Given the description of an element on the screen output the (x, y) to click on. 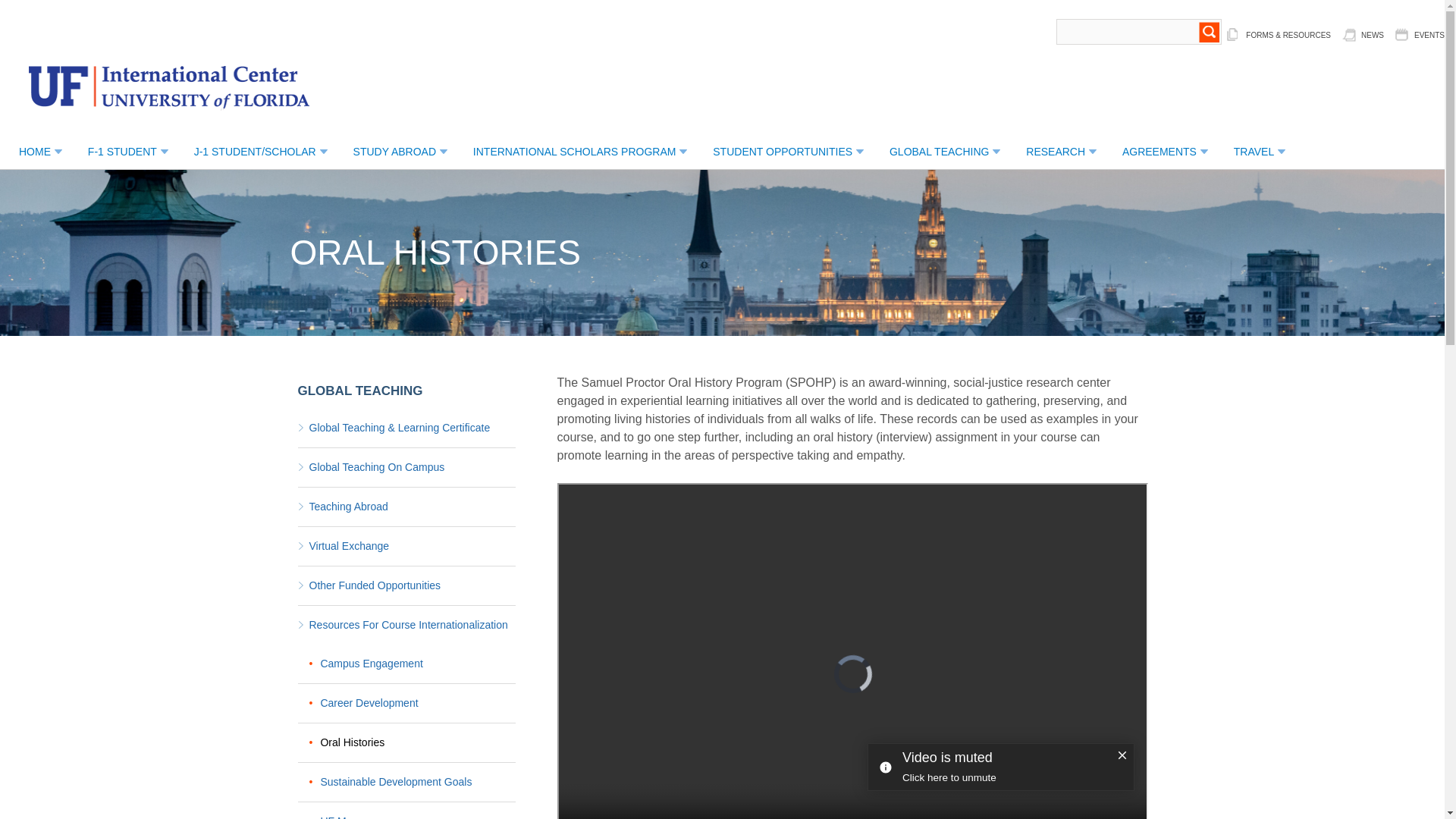
NEWS (1363, 35)
Search (1209, 32)
HOME (34, 151)
Enter the terms you wish to search for. (1139, 31)
Search (1209, 32)
